Given the description of an element on the screen output the (x, y) to click on. 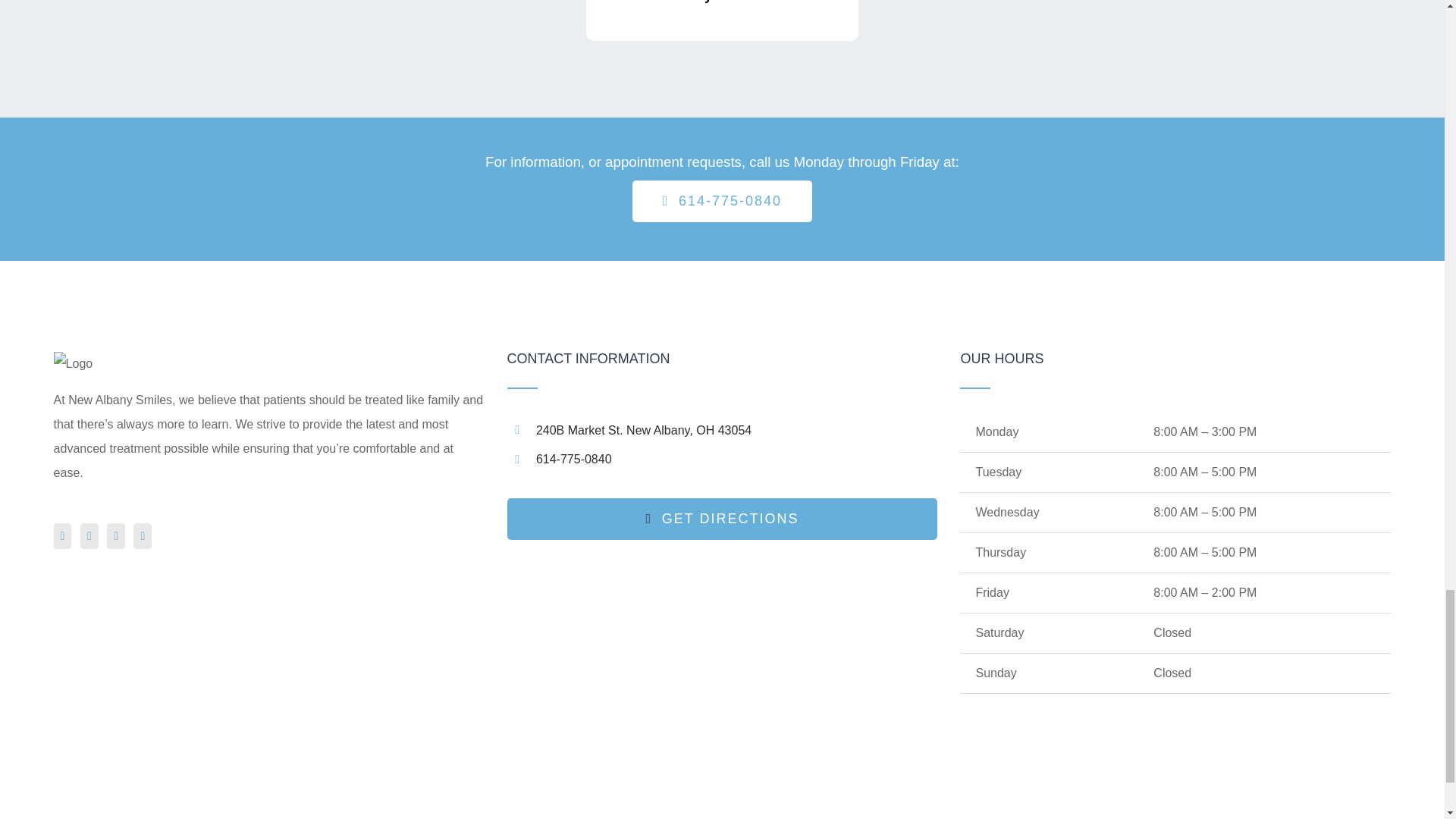
Instagram (115, 535)
Facebook (62, 535)
Pinterest (89, 535)
YouTube (142, 535)
